Given the description of an element on the screen output the (x, y) to click on. 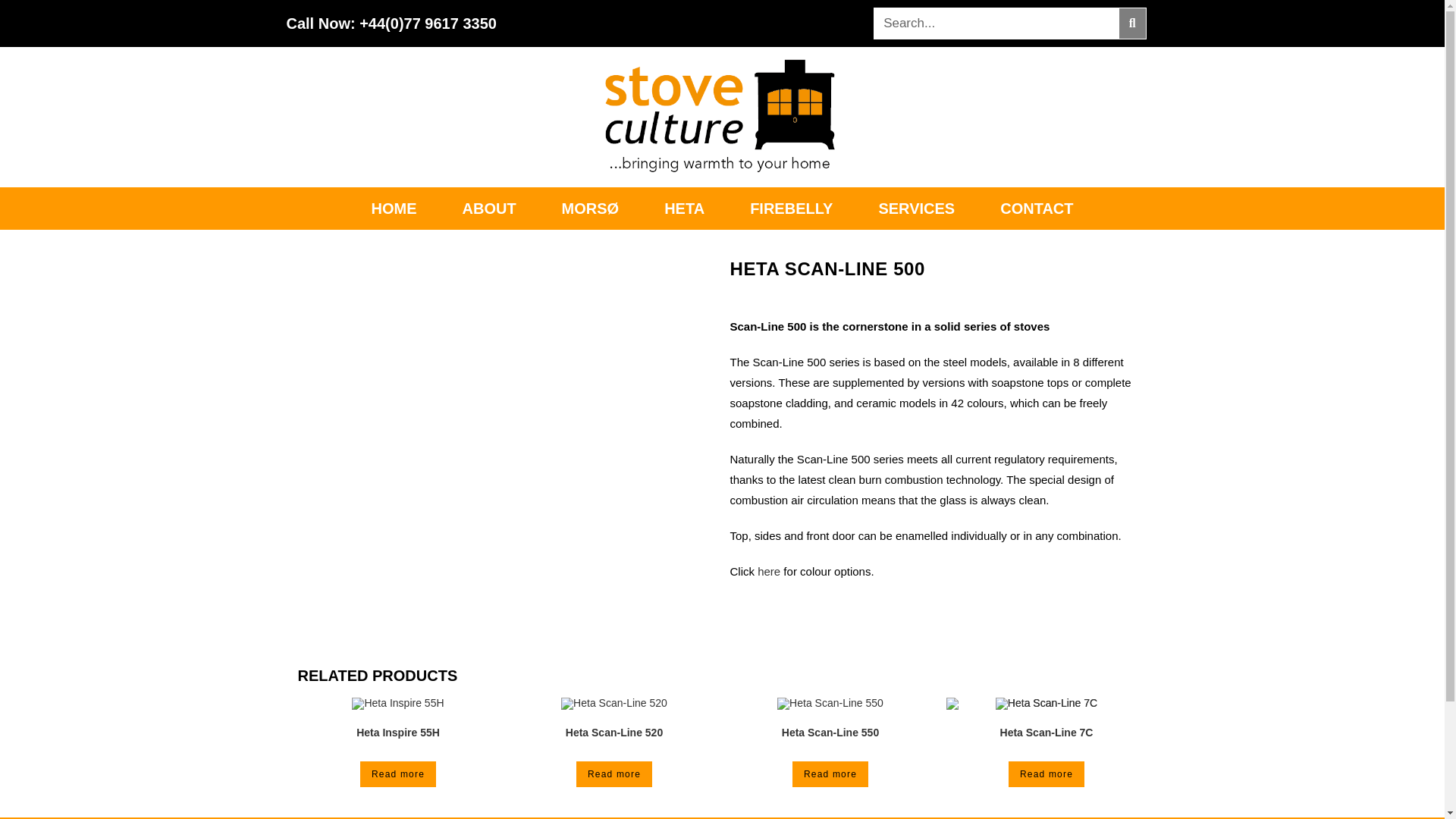
HETA (684, 208)
ABOUT (488, 208)
FIREBELLY (791, 208)
HOME (394, 208)
SERVICES (916, 208)
CONTACT (1036, 208)
